Given the description of an element on the screen output the (x, y) to click on. 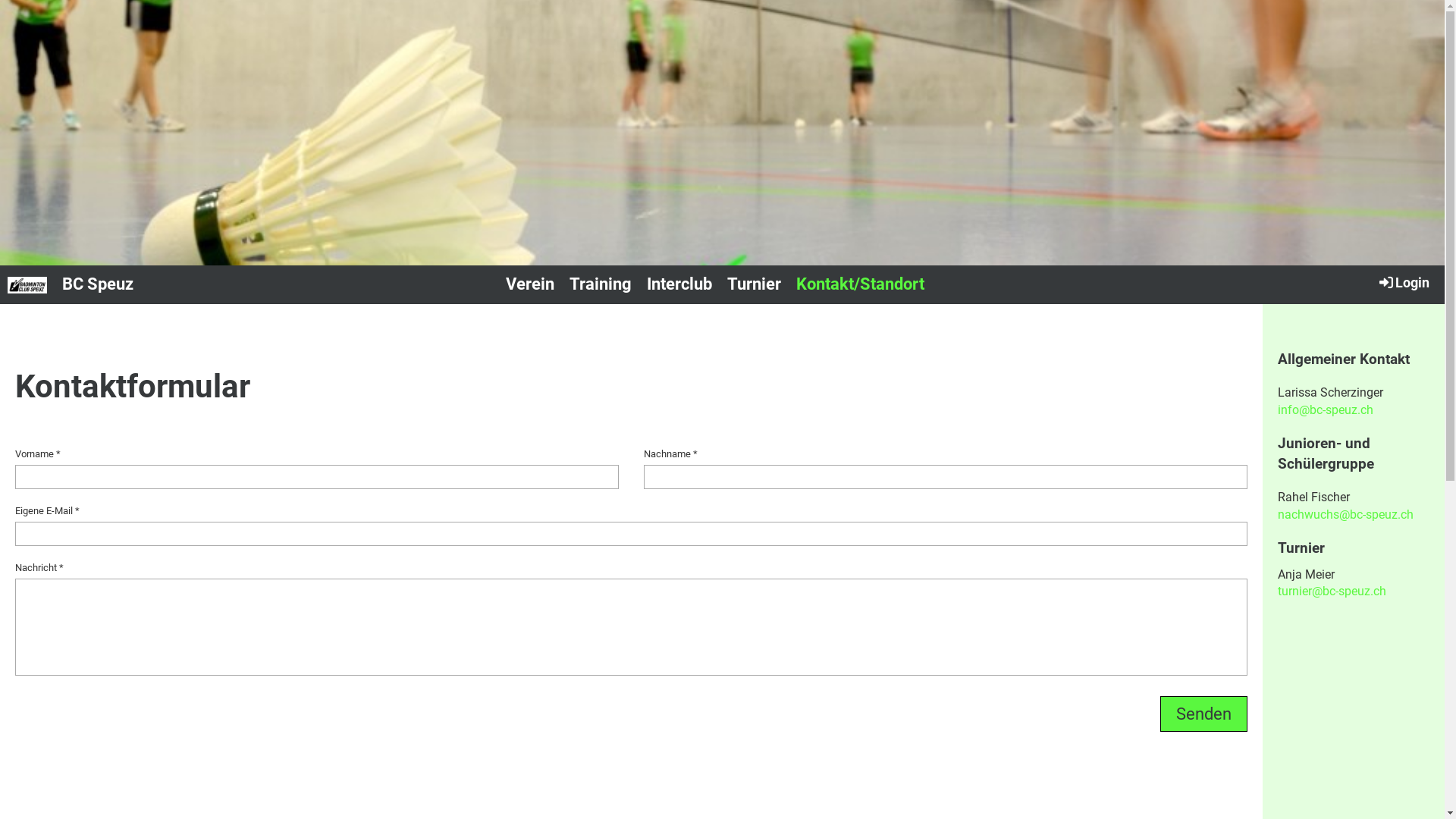
Training Element type: text (599, 284)
Login Element type: text (1403, 282)
BC Speuz Element type: text (97, 284)
turnier@bc-speuz.ch Element type: text (1331, 590)
Senden Element type: text (1203, 713)
info@bc-speuz.ch Element type: text (1325, 409)
Interclub Element type: text (678, 284)
Verein Element type: text (529, 284)
Kontakt/Standort Element type: text (859, 284)
nachwuchs@bc-speuz.ch Element type: text (1345, 514)
Turnier Element type: text (752, 284)
